Given the description of an element on the screen output the (x, y) to click on. 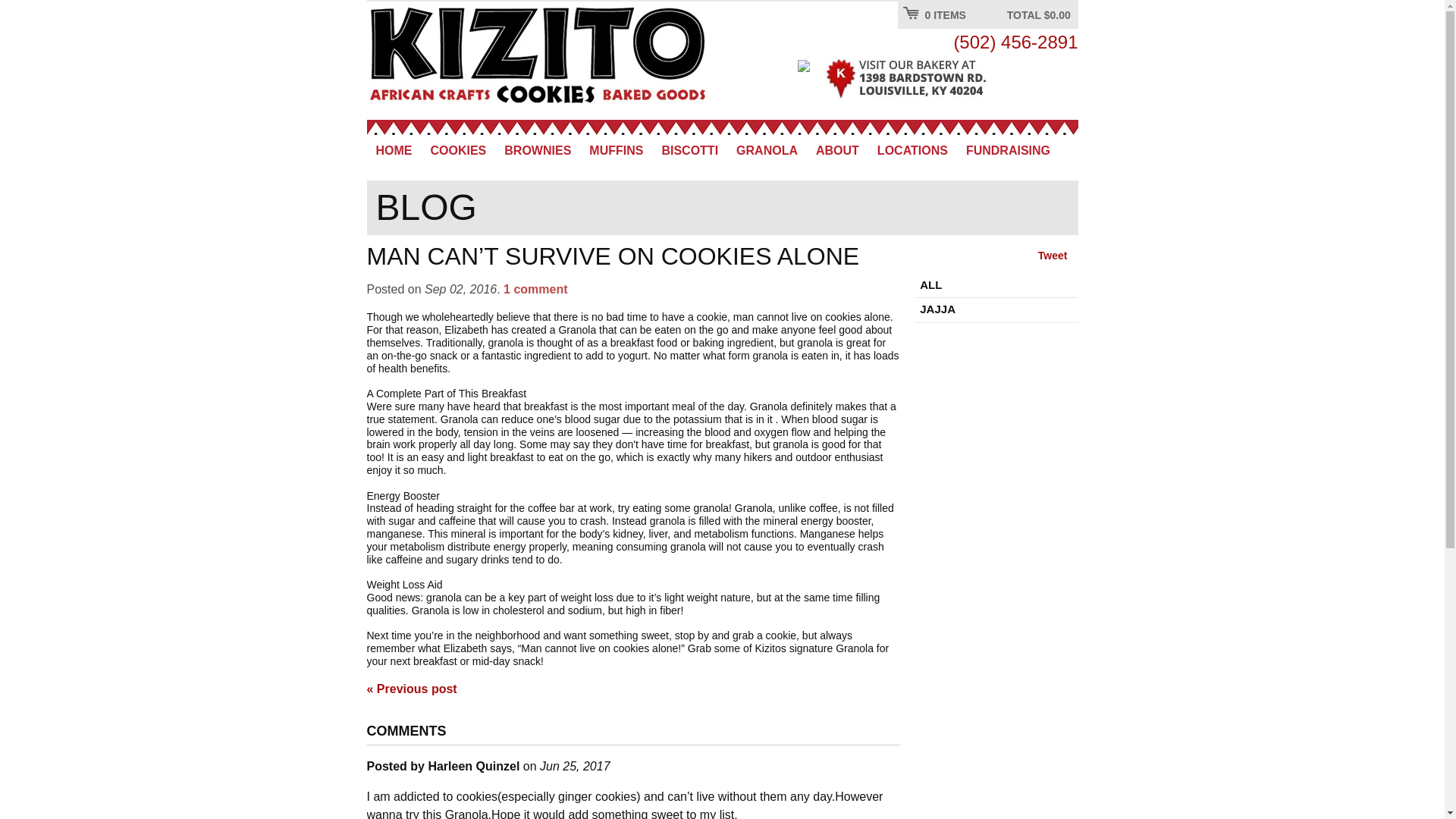
Tweet (1052, 255)
COOKIES (459, 151)
Get Directions (934, 78)
BISCOTTI (689, 151)
ABOUT (836, 151)
GRANOLA (766, 151)
ALL (996, 285)
JAJJA (996, 310)
BROWNIES (537, 151)
MUFFINS (615, 151)
FUNDRAISING (1007, 151)
1 comment (535, 288)
LOCATIONS (911, 151)
HOME (394, 151)
Show articles tagged Jajja (996, 310)
